Given the description of an element on the screen output the (x, y) to click on. 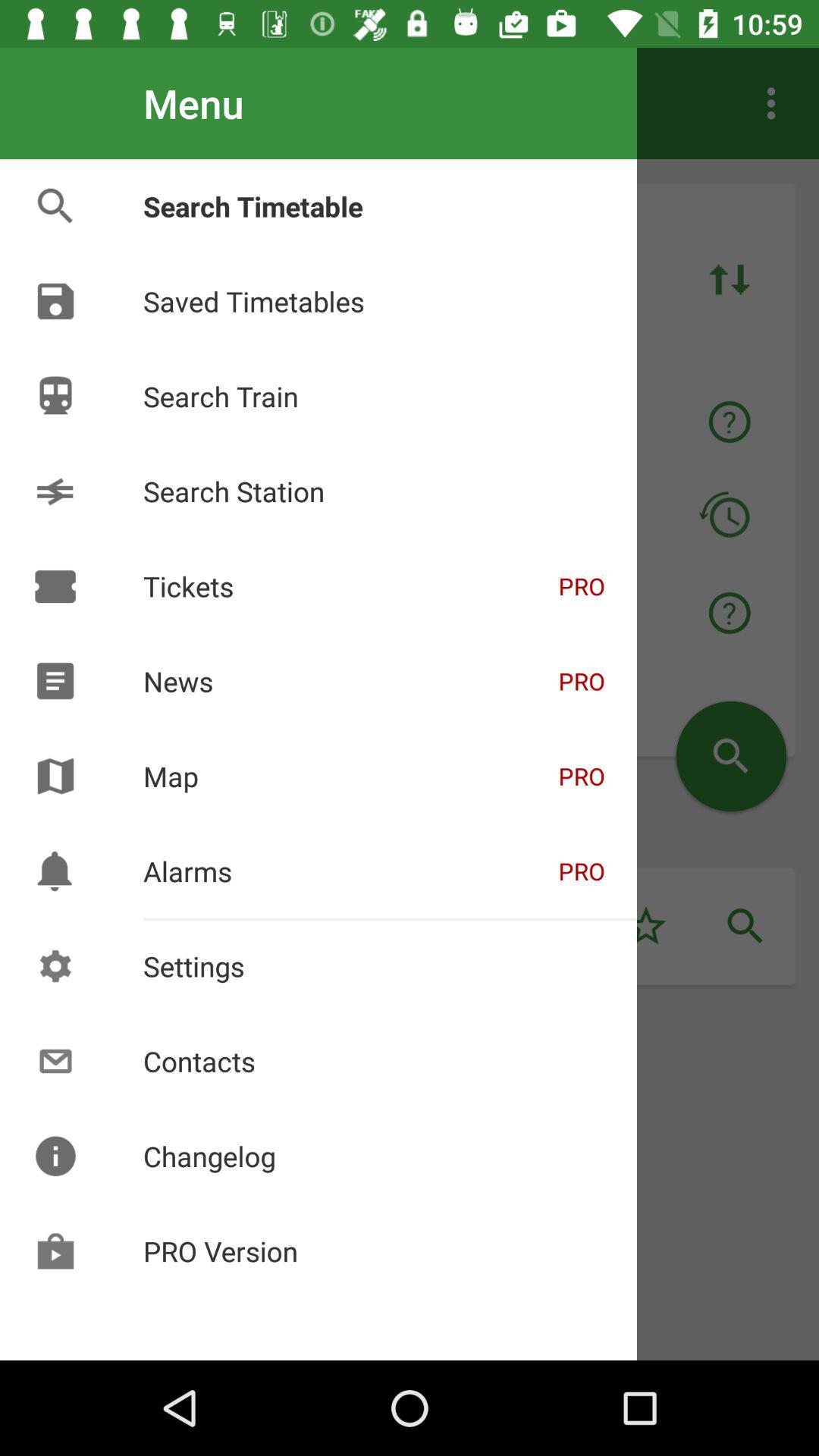
select option below search station (403, 613)
text right to the train icon (403, 422)
click on second search icon in middle right of page (745, 925)
